Given the description of an element on the screen output the (x, y) to click on. 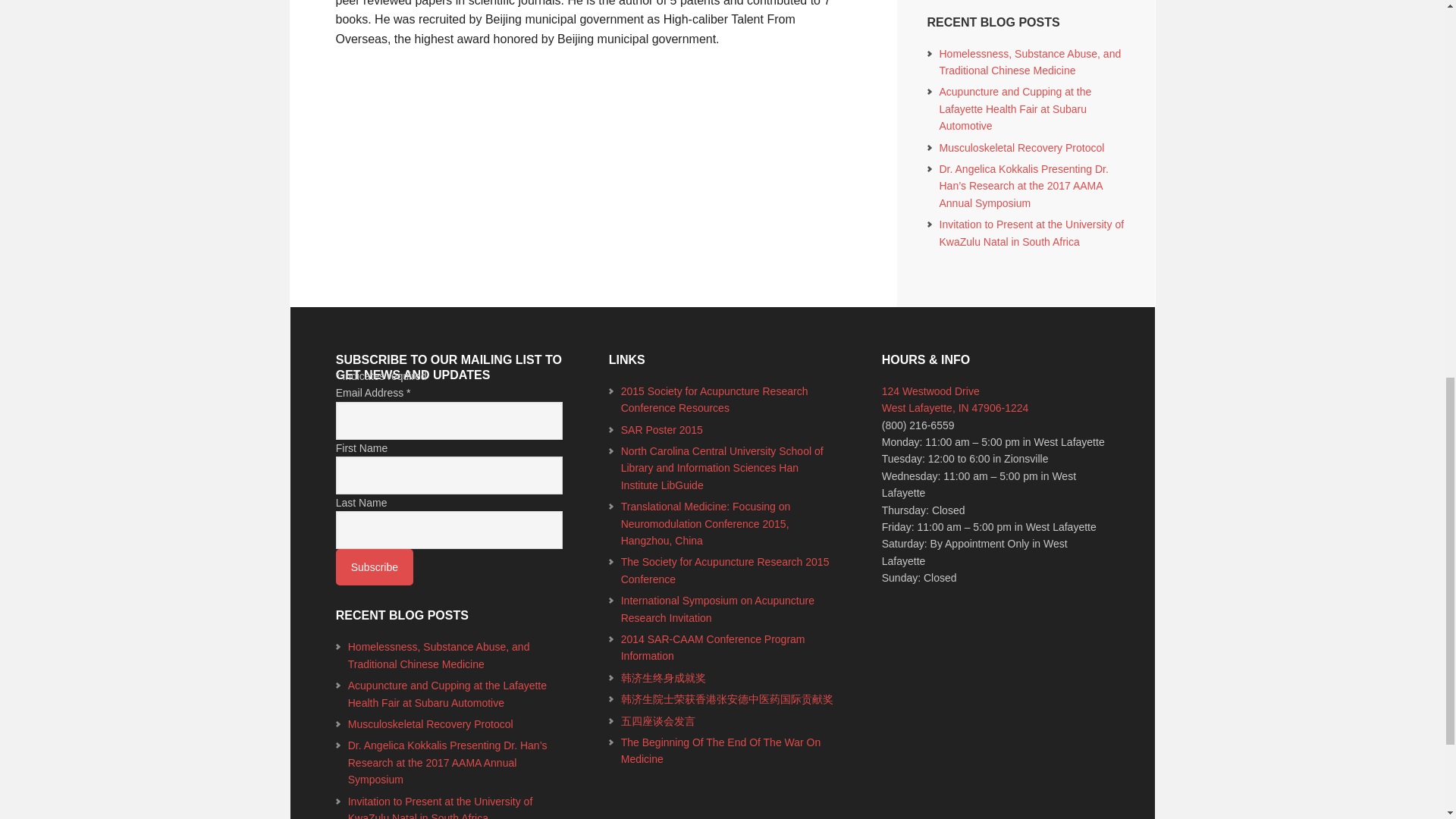
Subscribe (374, 566)
